Given the description of an element on the screen output the (x, y) to click on. 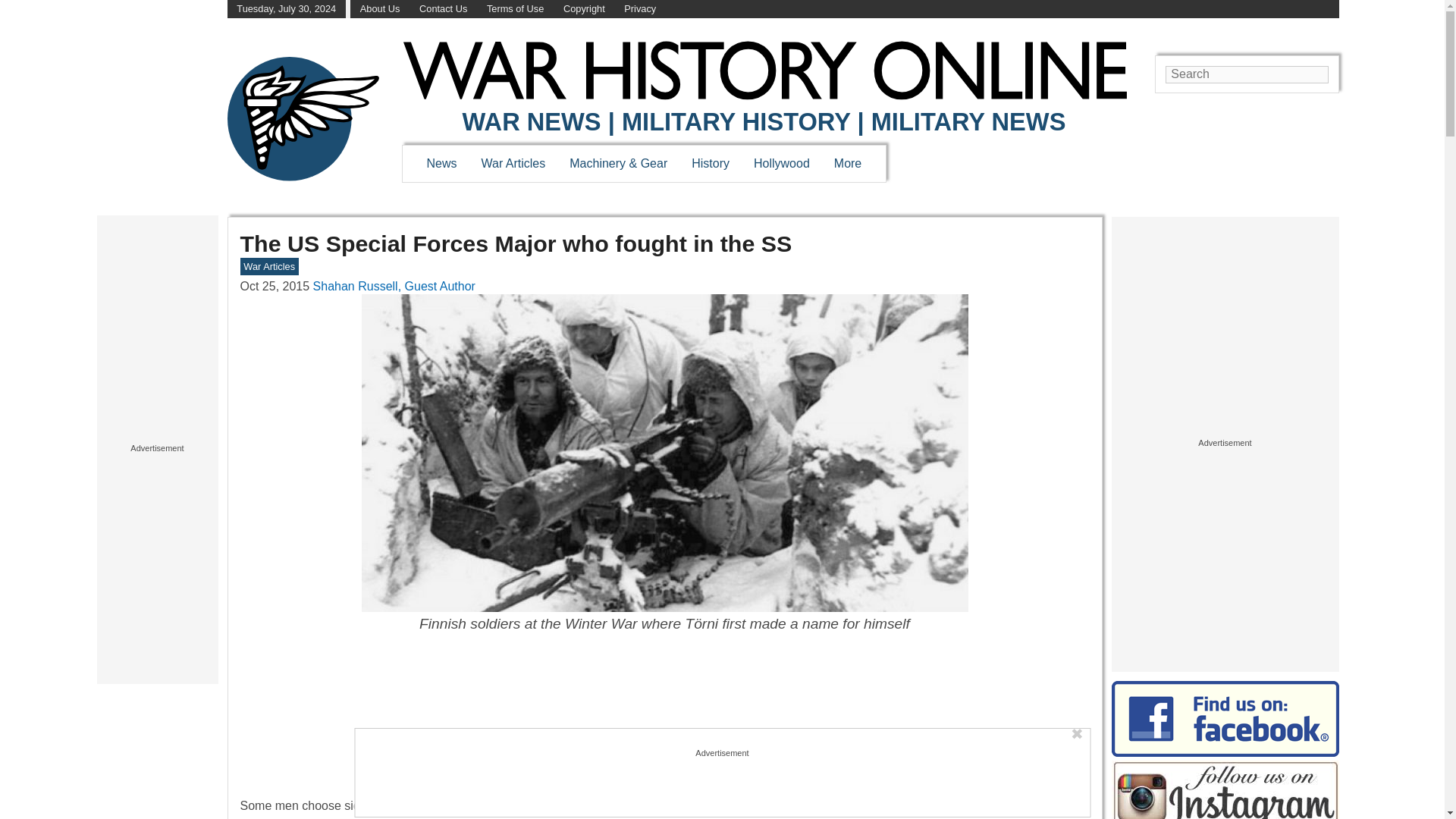
Privacy (640, 8)
Contact Us (443, 8)
History (710, 163)
Hollywood (781, 163)
Copyright (584, 8)
War Articles (513, 163)
Terms of Use (514, 8)
News (441, 163)
About Us (379, 8)
More (847, 163)
